Given the description of an element on the screen output the (x, y) to click on. 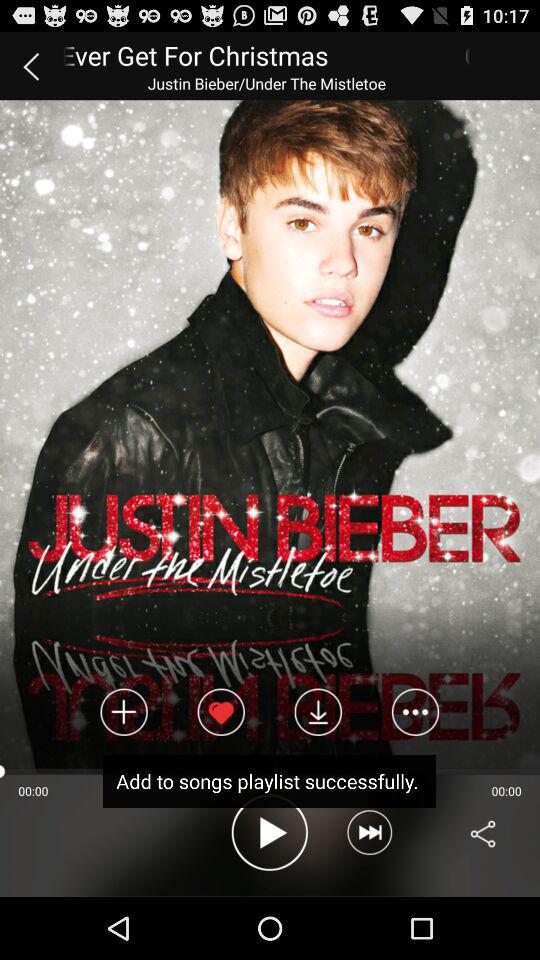
click on download button (317, 712)
click on icon which is left to like icon (123, 712)
